Given the description of an element on the screen output the (x, y) to click on. 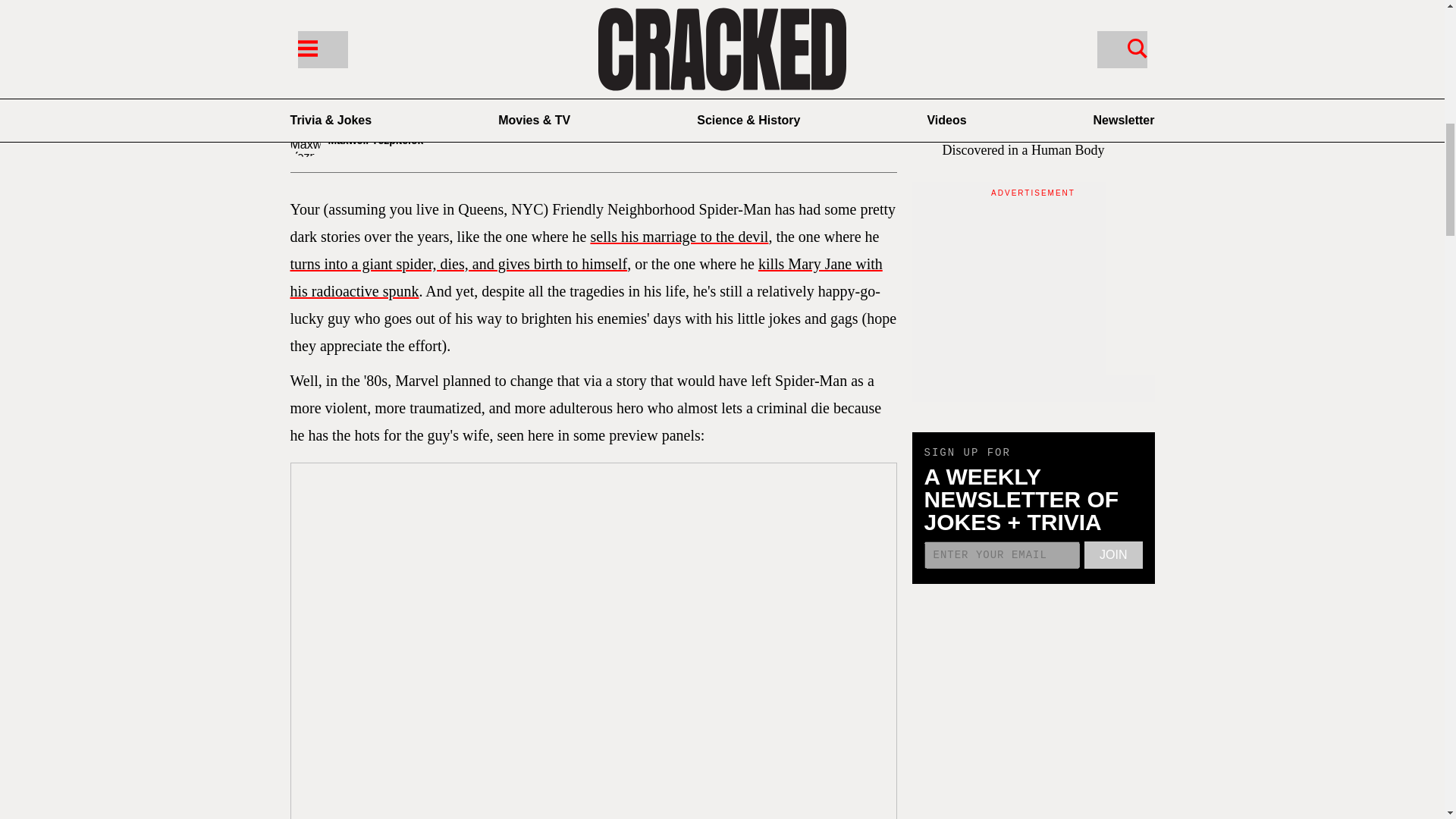
turns into a giant spider, dies, and gives birth to himself (458, 263)
sells his marriage to the devil (678, 236)
Maxwell Yezpitelok (387, 141)
kills Mary Jane with his radioactive spunk (585, 277)
